Given the description of an element on the screen output the (x, y) to click on. 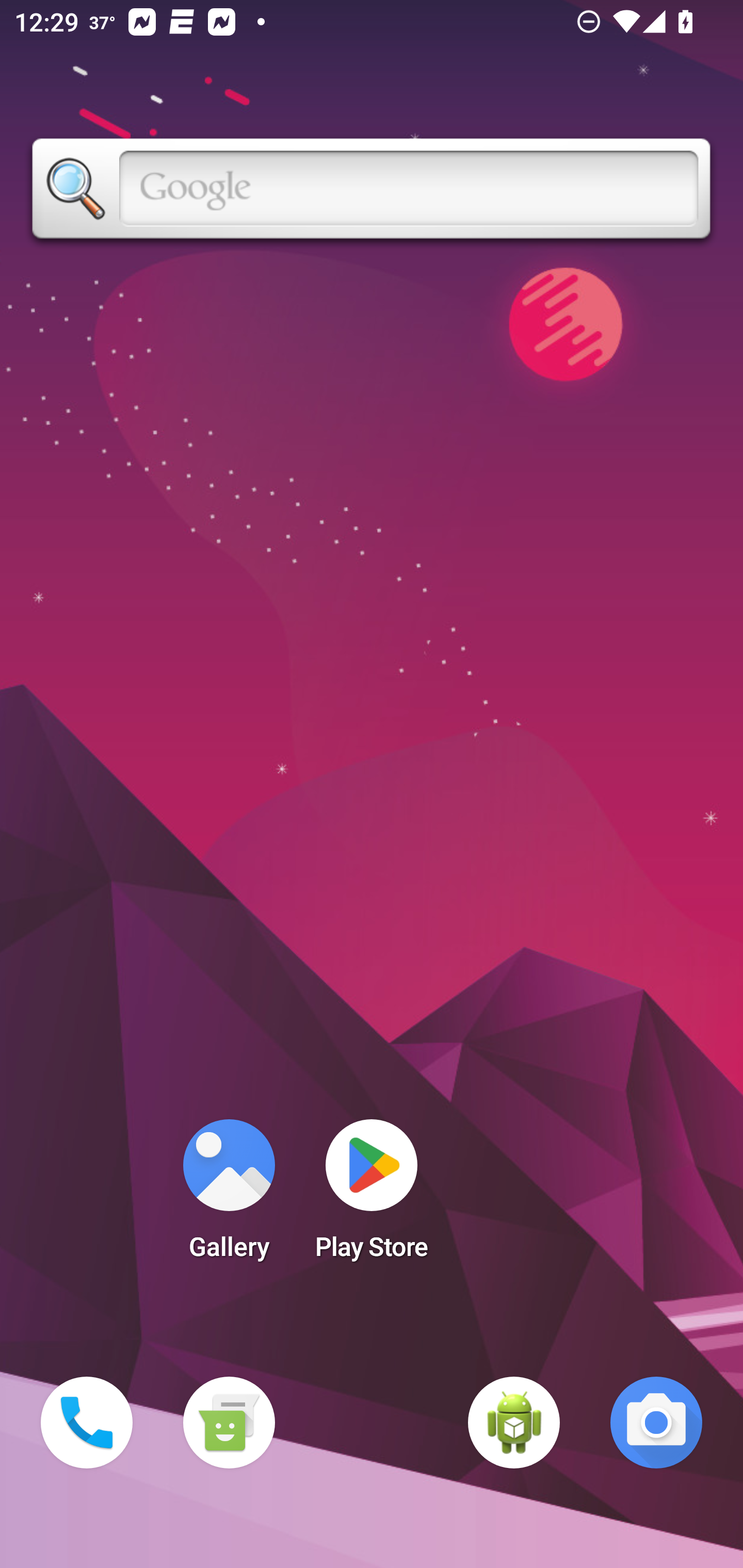
Gallery (228, 1195)
Play Store (371, 1195)
Phone (86, 1422)
Messaging (228, 1422)
WebView Browser Tester (513, 1422)
Camera (656, 1422)
